Given the description of an element on the screen output the (x, y) to click on. 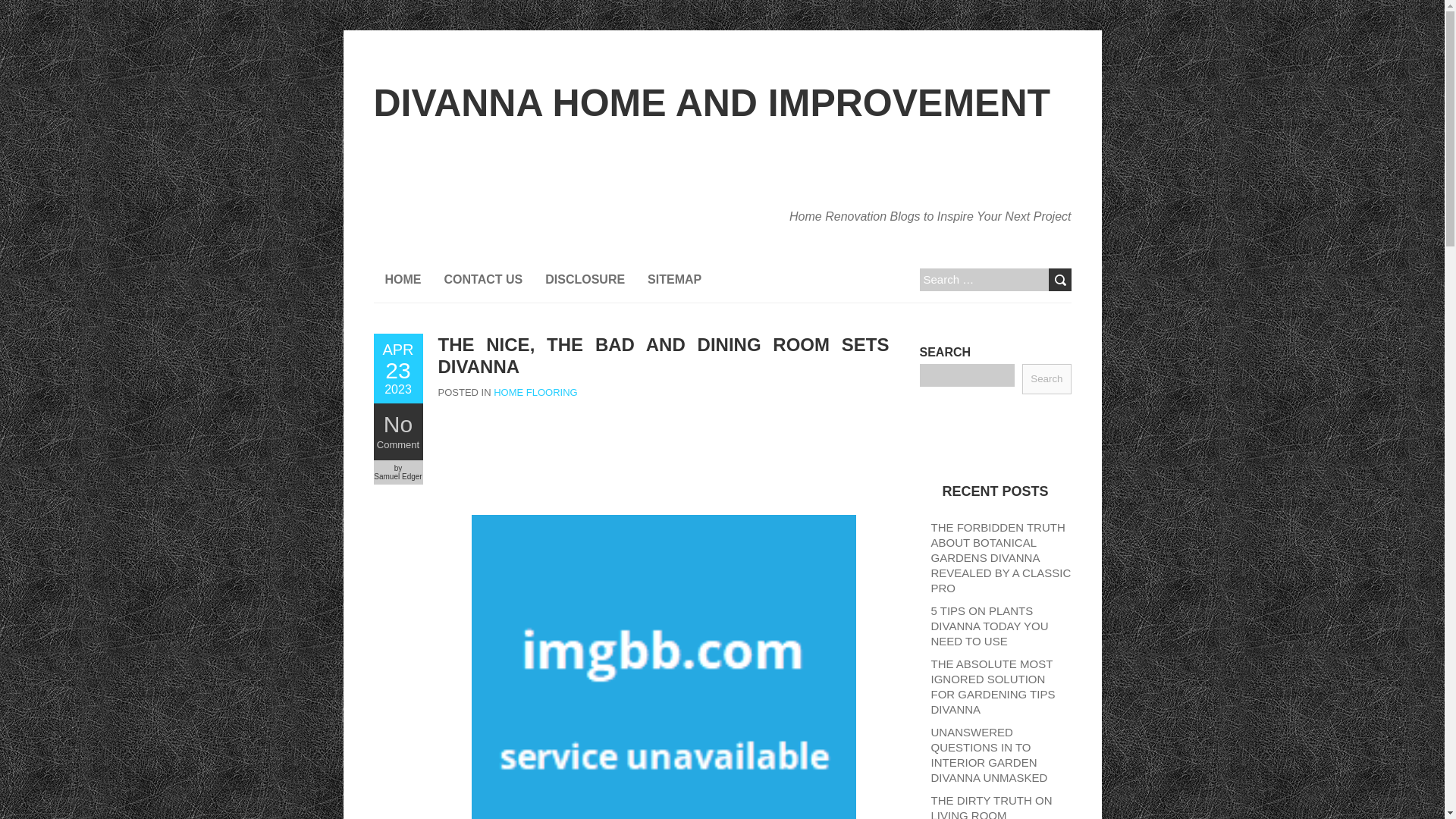
Search (1059, 279)
No (397, 424)
HOME (402, 279)
The Nice, The Bad and Dining Room Sets Divanna (663, 355)
DIVANNA HOME AND IMPROVEMENT (710, 102)
Comment (397, 444)
UNANSWERED QUESTIONS IN TO INTERIOR GARDEN DIVANNA UNMASKED (989, 754)
THE NICE, THE BAD AND DINING ROOM SETS DIVANNA (663, 355)
SITEMAP (674, 279)
DISCLOSURE (585, 279)
Search (1059, 279)
The Nice, The Bad and Dining Room Sets Divanna (397, 368)
